Given the description of an element on the screen output the (x, y) to click on. 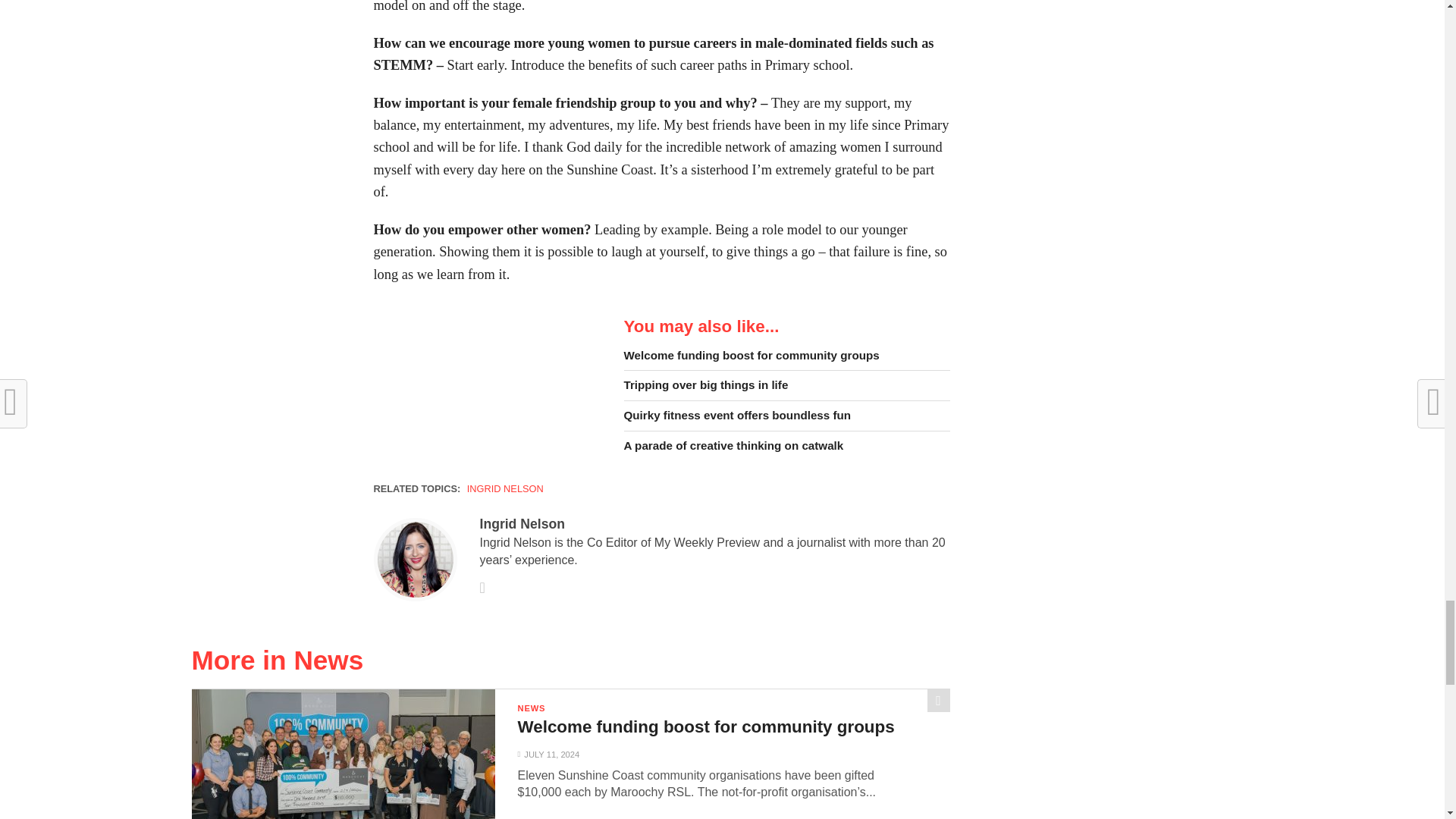
Posts by Ingrid Nelson (521, 523)
